Given the description of an element on the screen output the (x, y) to click on. 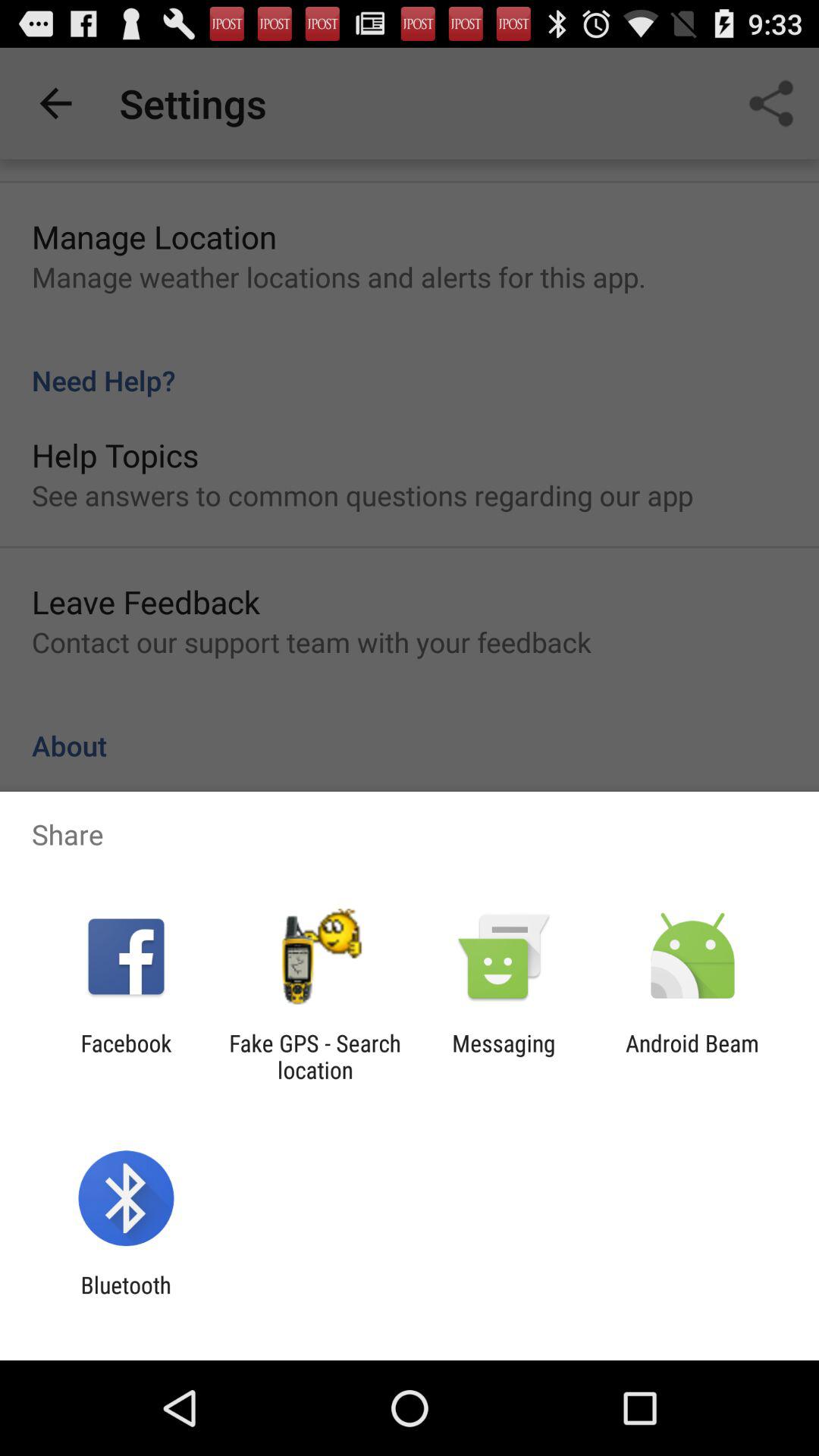
tap icon to the right of fake gps search item (503, 1056)
